Given the description of an element on the screen output the (x, y) to click on. 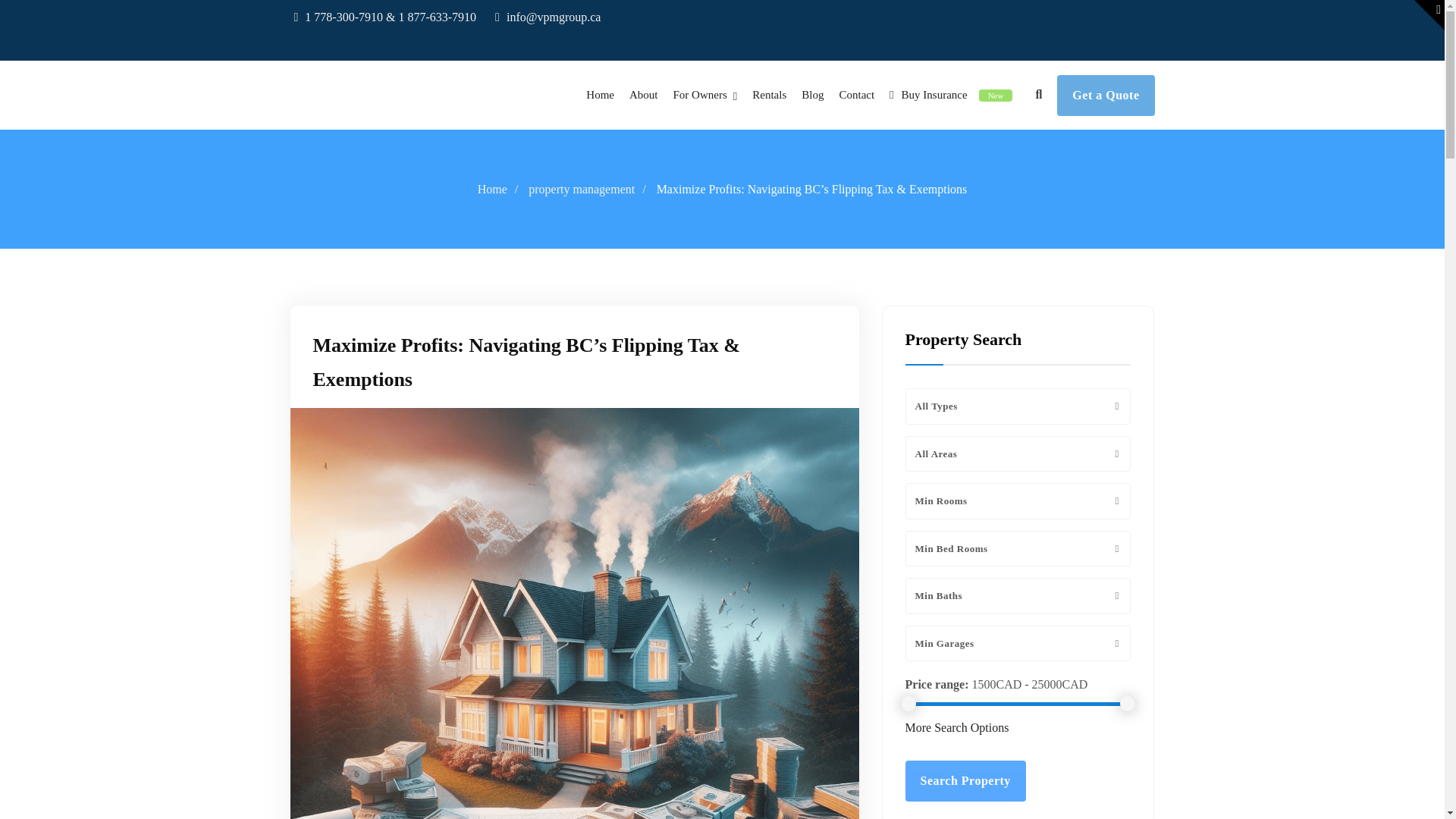
For Owners (705, 94)
Buy InsuranceNew (951, 94)
Get a Quote (1105, 95)
